Given the description of an element on the screen output the (x, y) to click on. 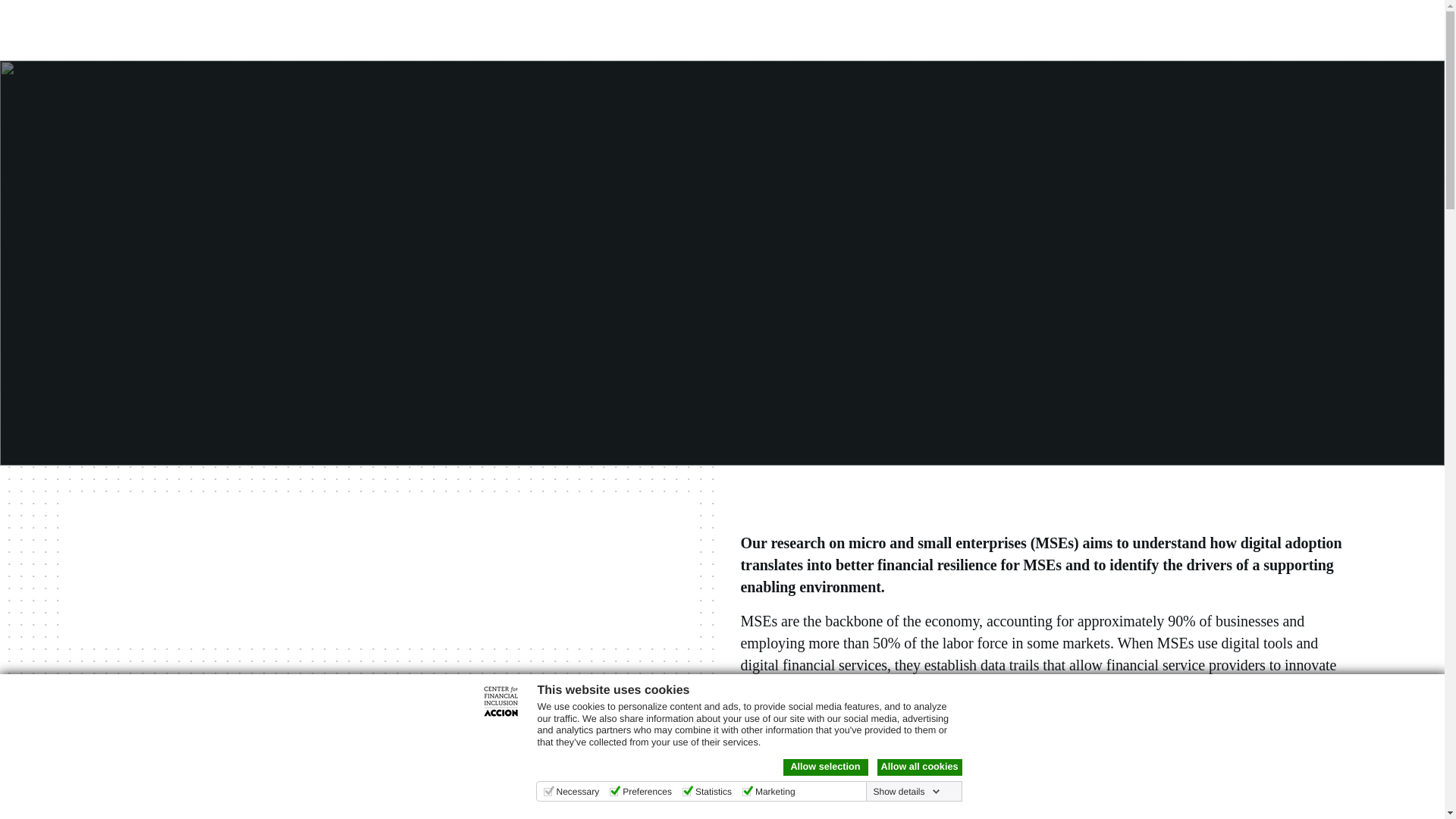
Allow all cookies (918, 767)
Allow selection (825, 767)
Show details (905, 791)
